Given the description of an element on the screen output the (x, y) to click on. 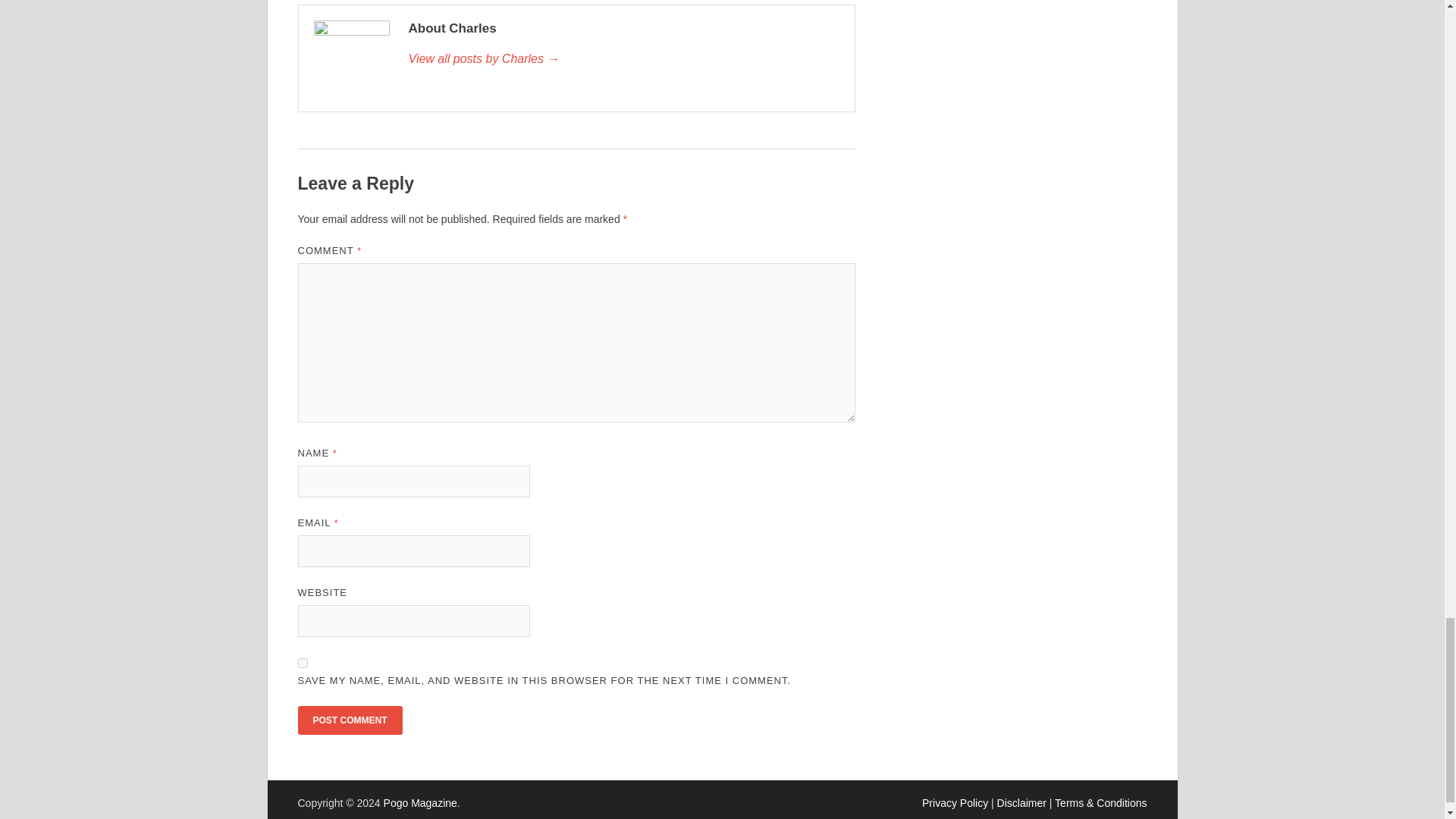
Post Comment (349, 719)
Privacy Policy (954, 802)
yes (302, 663)
Post Comment (349, 719)
Pogo Magazine (420, 802)
Pogo Magazine (420, 802)
Charles (622, 58)
Disclaimer (1021, 802)
